Given the description of an element on the screen output the (x, y) to click on. 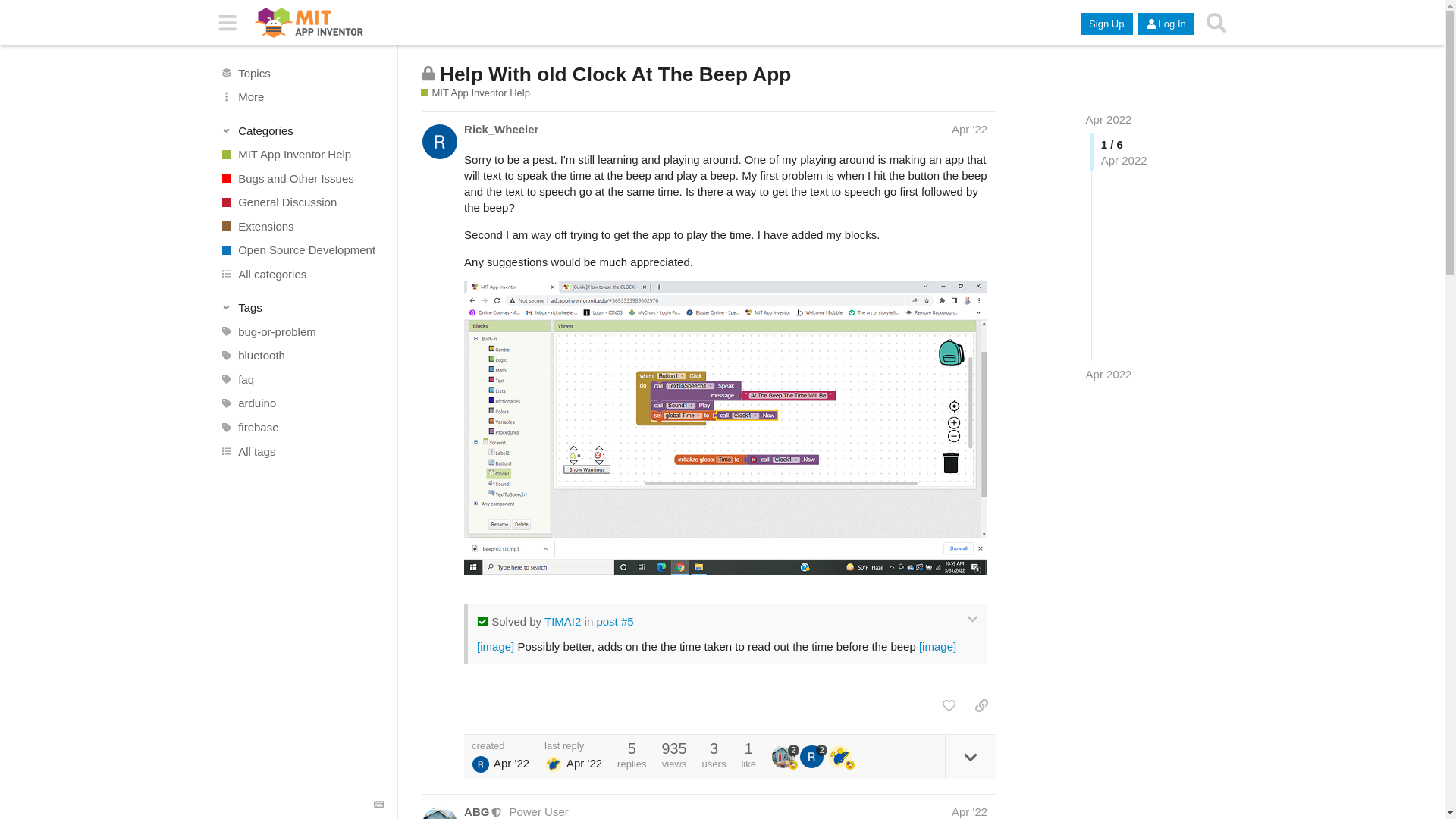
faq (301, 379)
Open Source Development (301, 250)
Apr '22 (969, 128)
bluetooth (301, 355)
More (301, 96)
Apr 2022 (1109, 119)
Keyboard Shortcuts (378, 805)
Sidebar (227, 22)
Help With old Clock At The Beep App (614, 74)
